Given the description of an element on the screen output the (x, y) to click on. 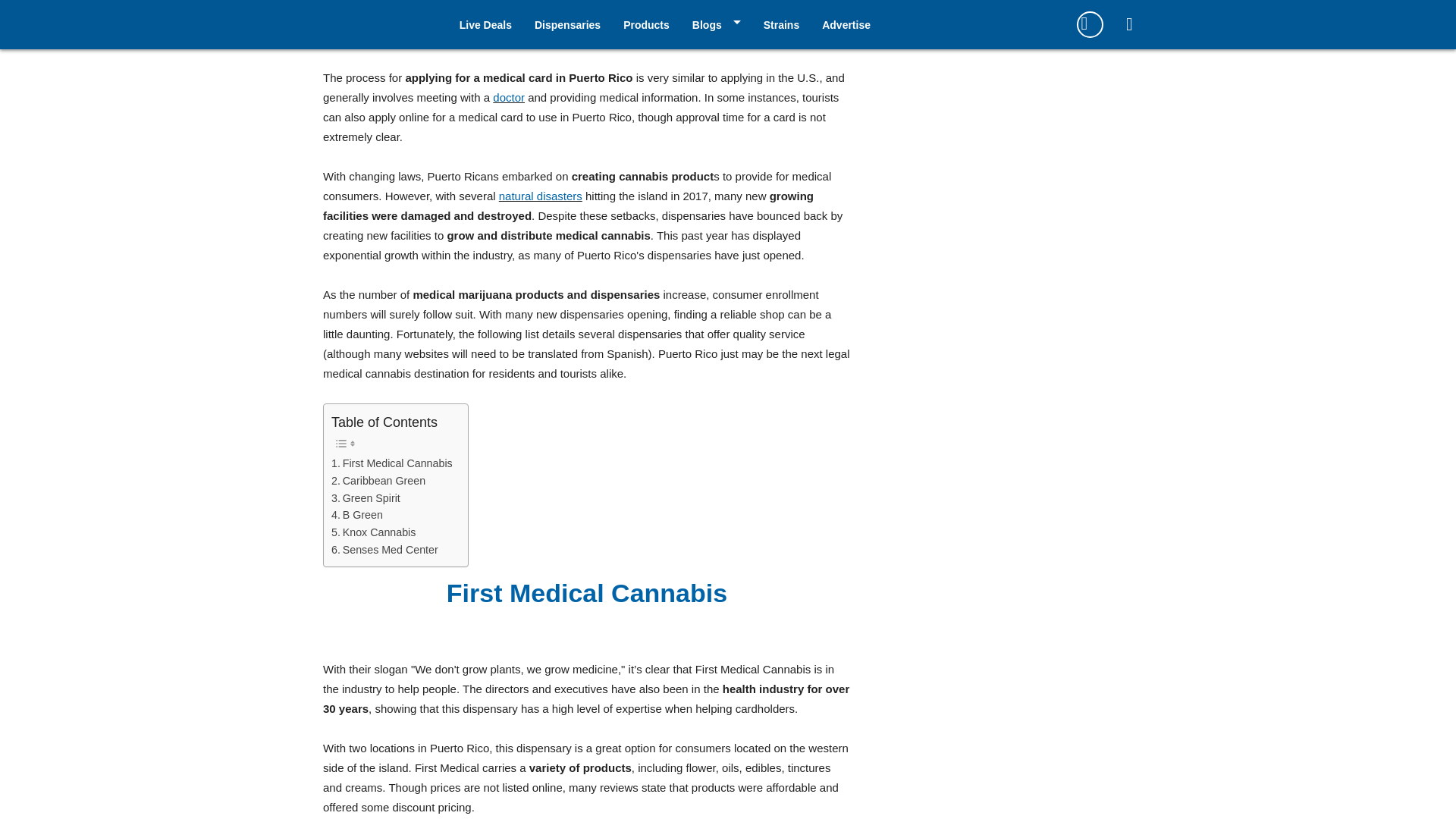
doctor (508, 97)
natural disasters (540, 195)
Caribbean Green (378, 480)
B Green  (356, 515)
First Medical Cannabis (391, 463)
Green Spirit (365, 497)
Green Spirit  (365, 497)
Knox Cannabis  (375, 532)
Caribbean Green (378, 480)
